Given the description of an element on the screen output the (x, y) to click on. 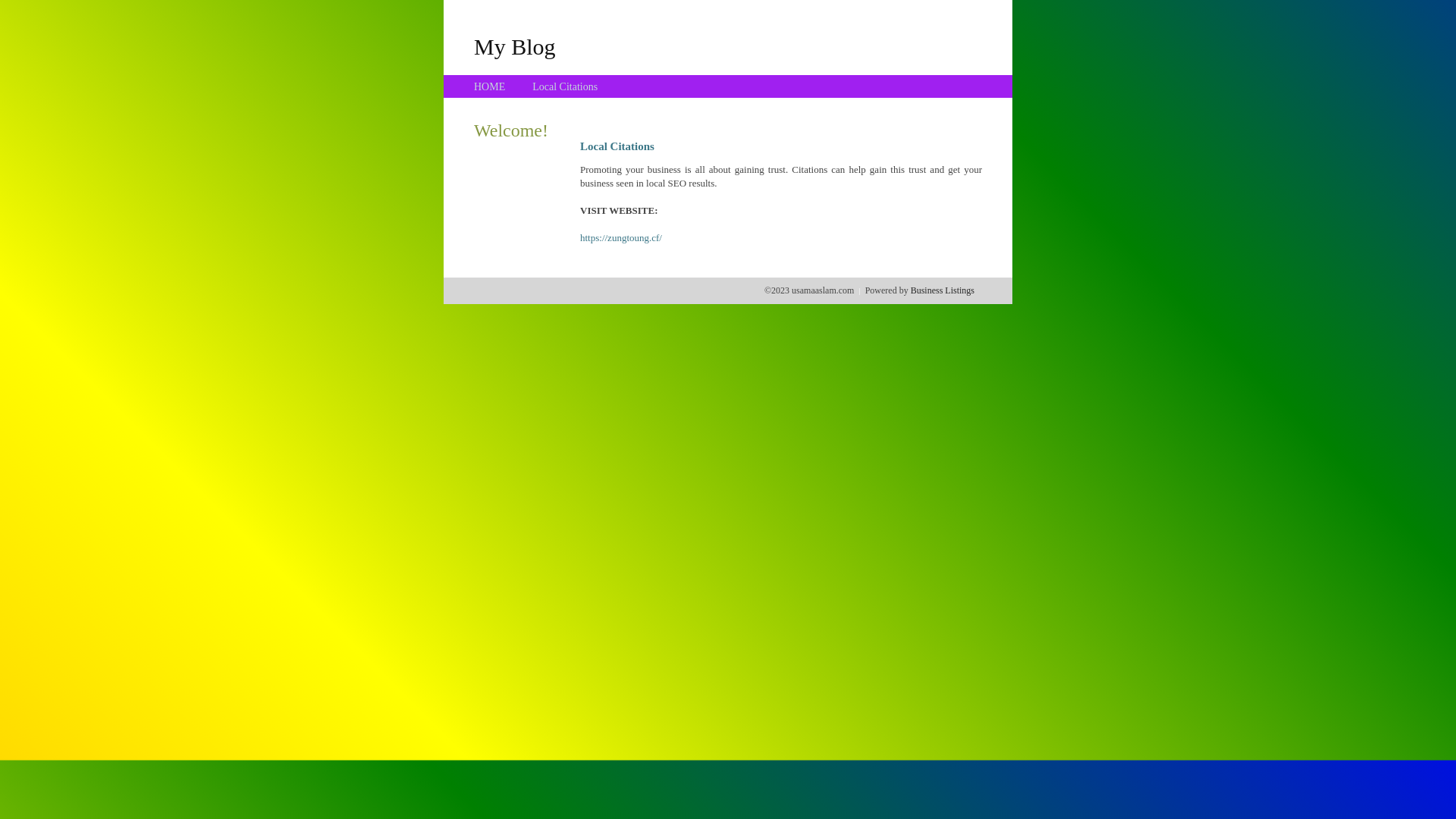
https://zungtoung.cf/ Element type: text (621, 237)
HOME Element type: text (489, 86)
Business Listings Element type: text (942, 290)
My Blog Element type: text (514, 46)
Local Citations Element type: text (564, 86)
